Given the description of an element on the screen output the (x, y) to click on. 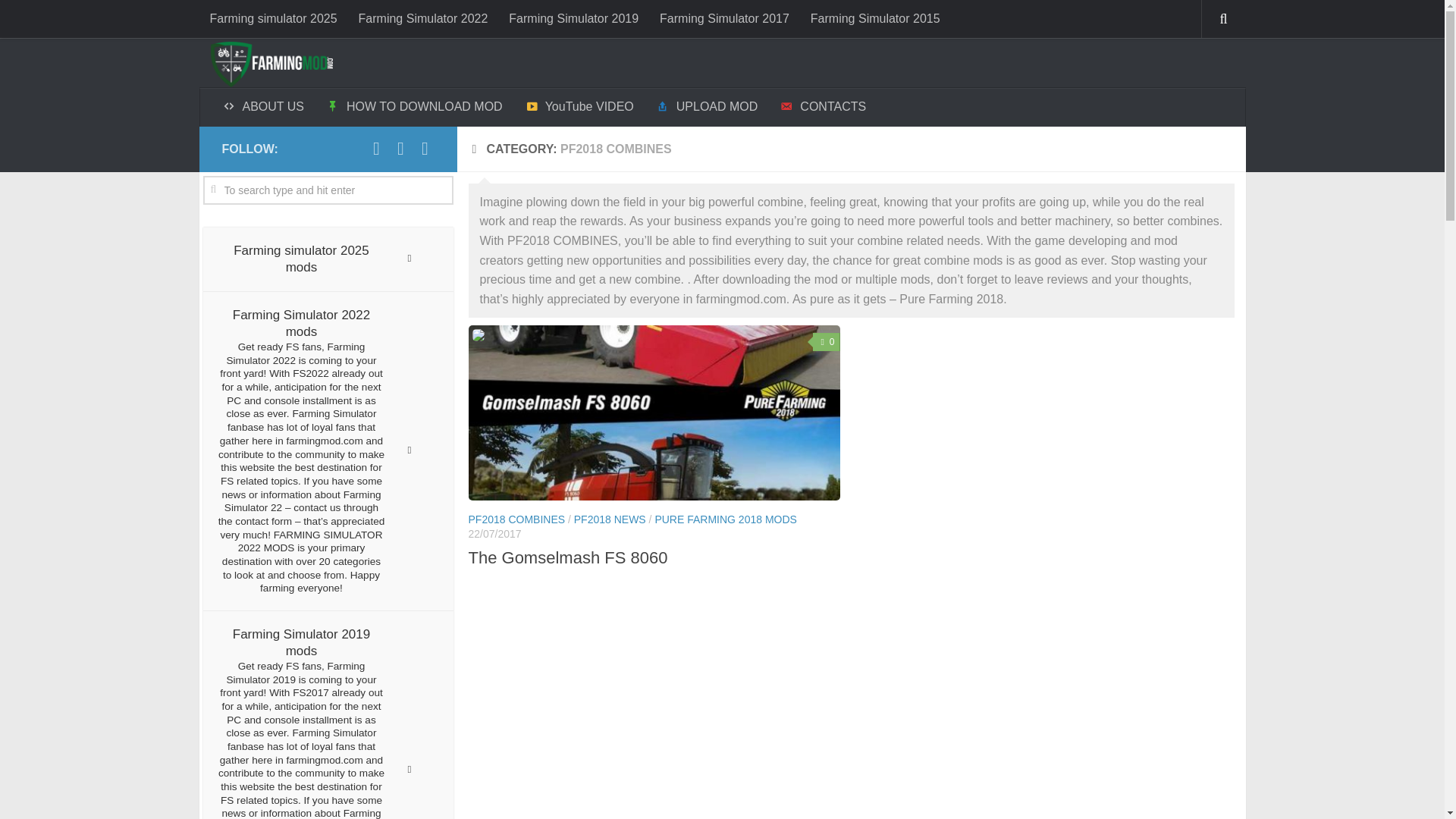
To search type and hit enter (327, 190)
Farming simulator 2025 mods (327, 259)
PF2018 NEWS (609, 519)
0 (826, 341)
Farming Simulator 2019 (573, 18)
HOW TO DOWNLOAD MOD (413, 106)
Follow us on Facebook (375, 148)
To search type and hit enter (327, 190)
ABOUT US (263, 106)
Follow us on Rss (400, 148)
